Given the description of an element on the screen output the (x, y) to click on. 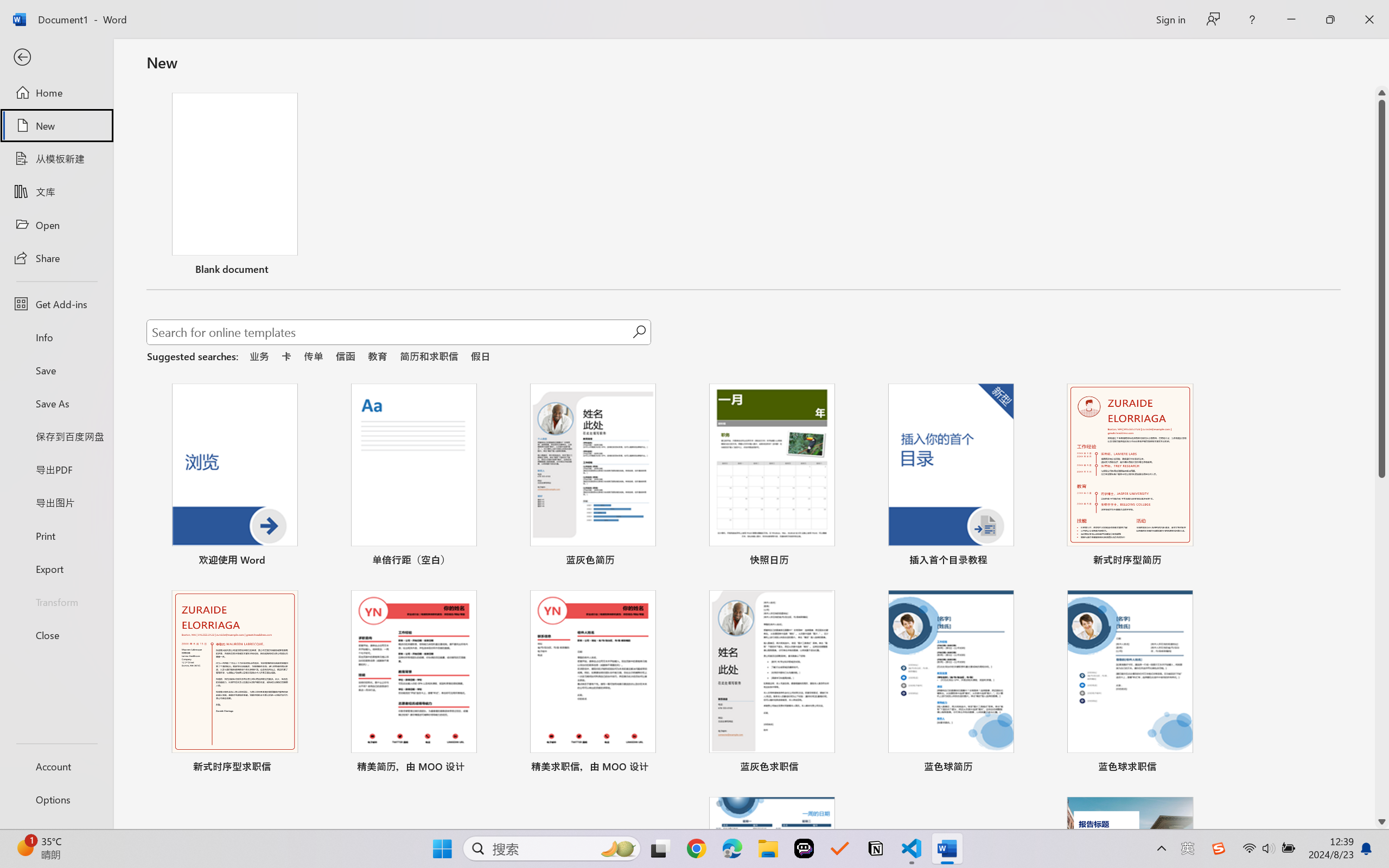
Search for online templates (389, 333)
Account (56, 765)
Export (56, 568)
Back (56, 57)
Line down (1382, 821)
